Given the description of an element on the screen output the (x, y) to click on. 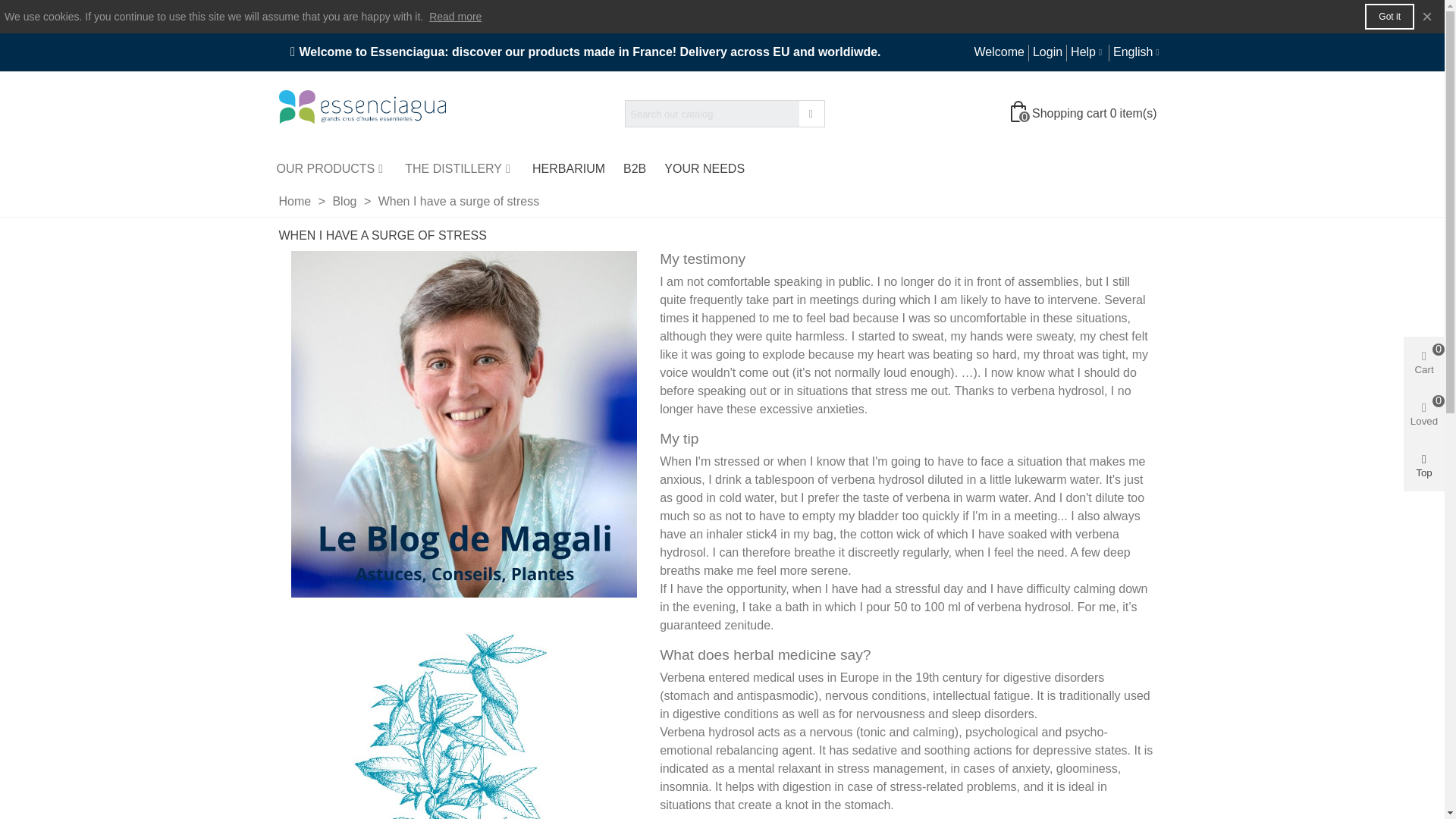
Got it (1389, 16)
Read more (455, 16)
Log in to your customer account (1046, 52)
Essenciagua (362, 114)
Login (1046, 52)
View my shopping cart (1085, 113)
THE DISTILLERY (459, 168)
OUR PRODUCTS (331, 168)
Read more (455, 16)
